Given the description of an element on the screen output the (x, y) to click on. 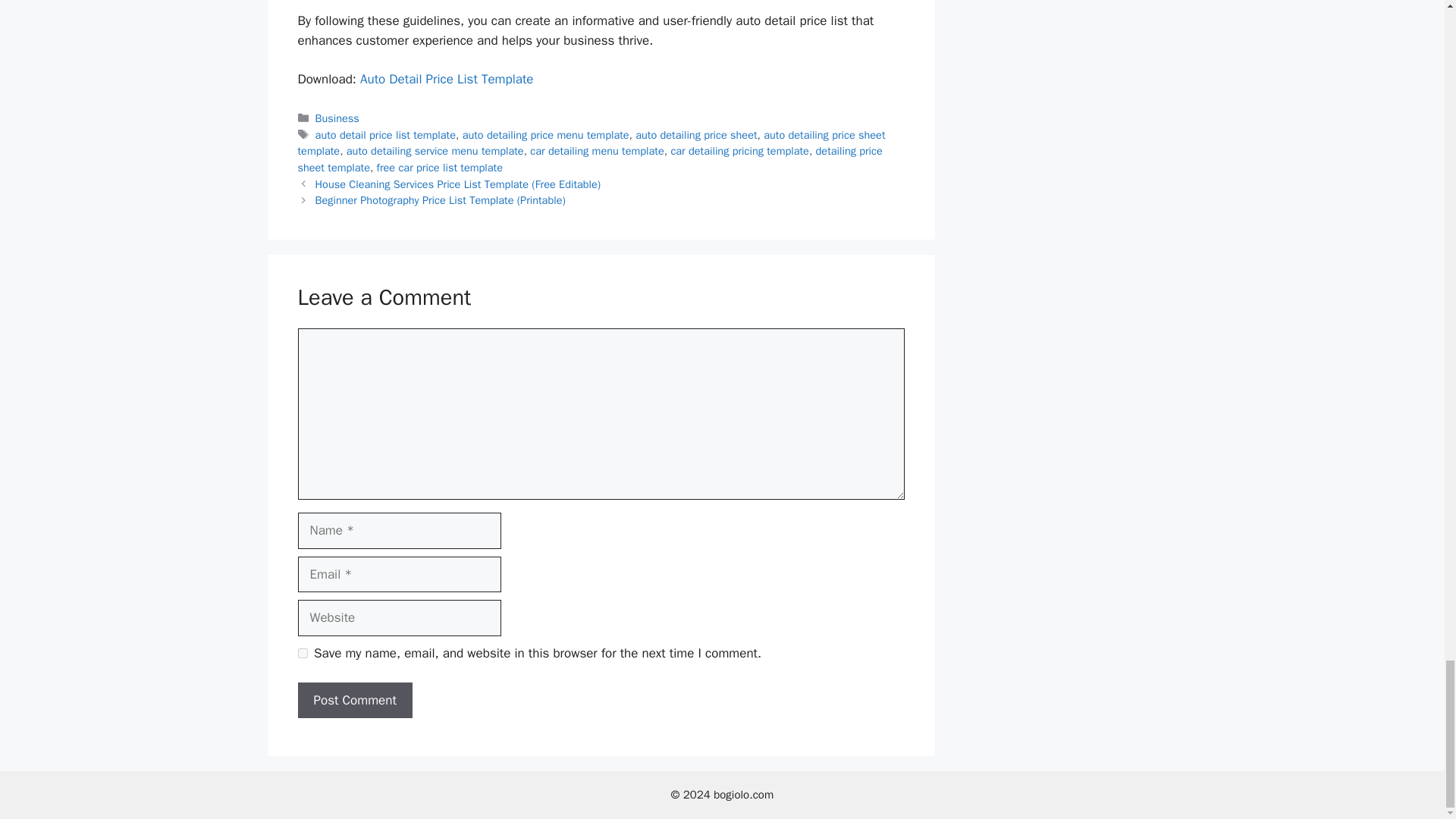
auto detail price list template (385, 134)
yes (302, 653)
Auto Detail Price List Template (446, 78)
auto detailing price menu template (545, 134)
Post Comment (354, 700)
detailing price sheet template (589, 159)
Business (337, 118)
auto detailing price sheet template (591, 142)
car detailing pricing template (739, 151)
free car price list template (439, 167)
